Given the description of an element on the screen output the (x, y) to click on. 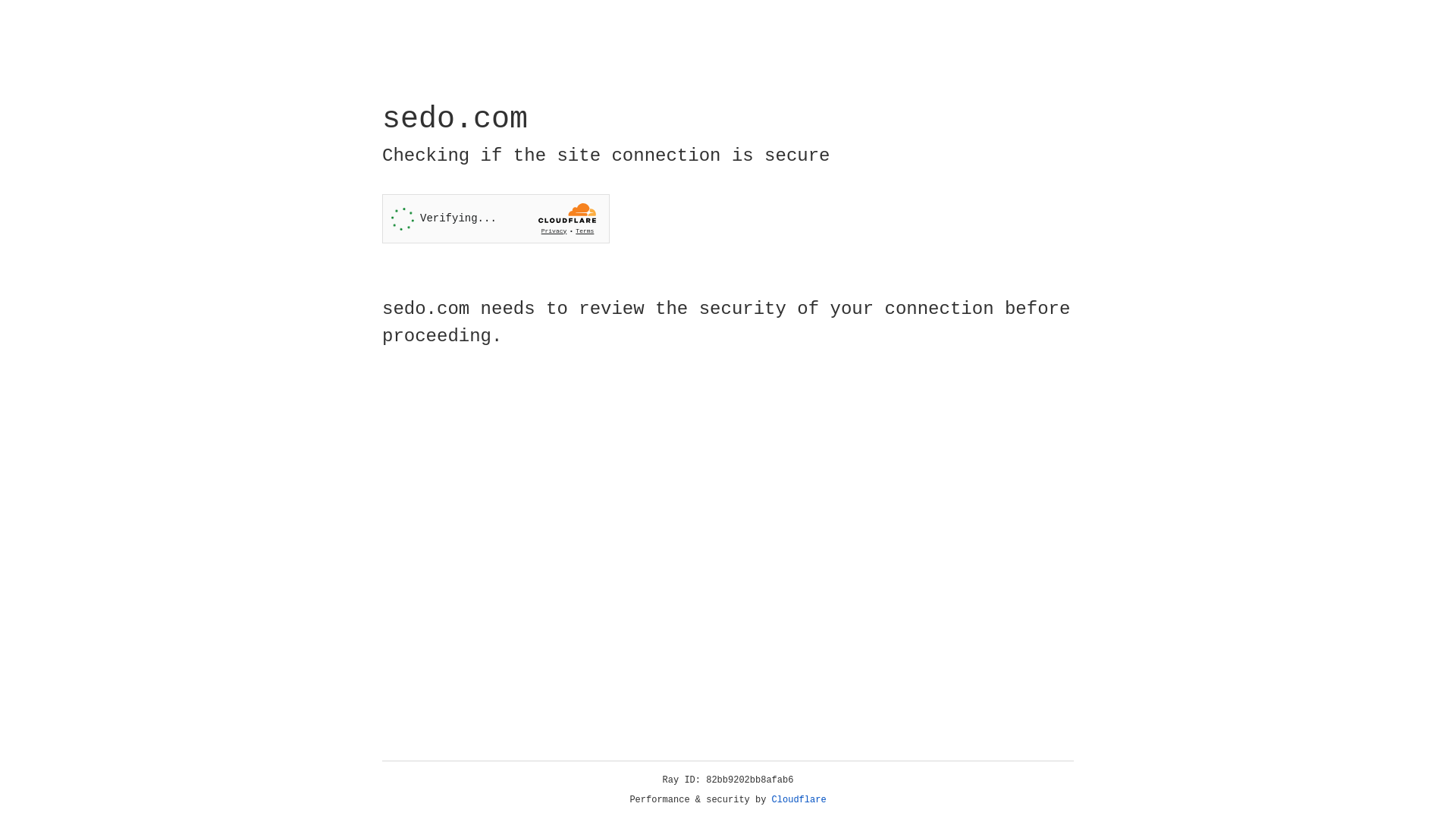
Cloudflare Element type: text (798, 799)
Widget containing a Cloudflare security challenge Element type: hover (495, 218)
